Given the description of an element on the screen output the (x, y) to click on. 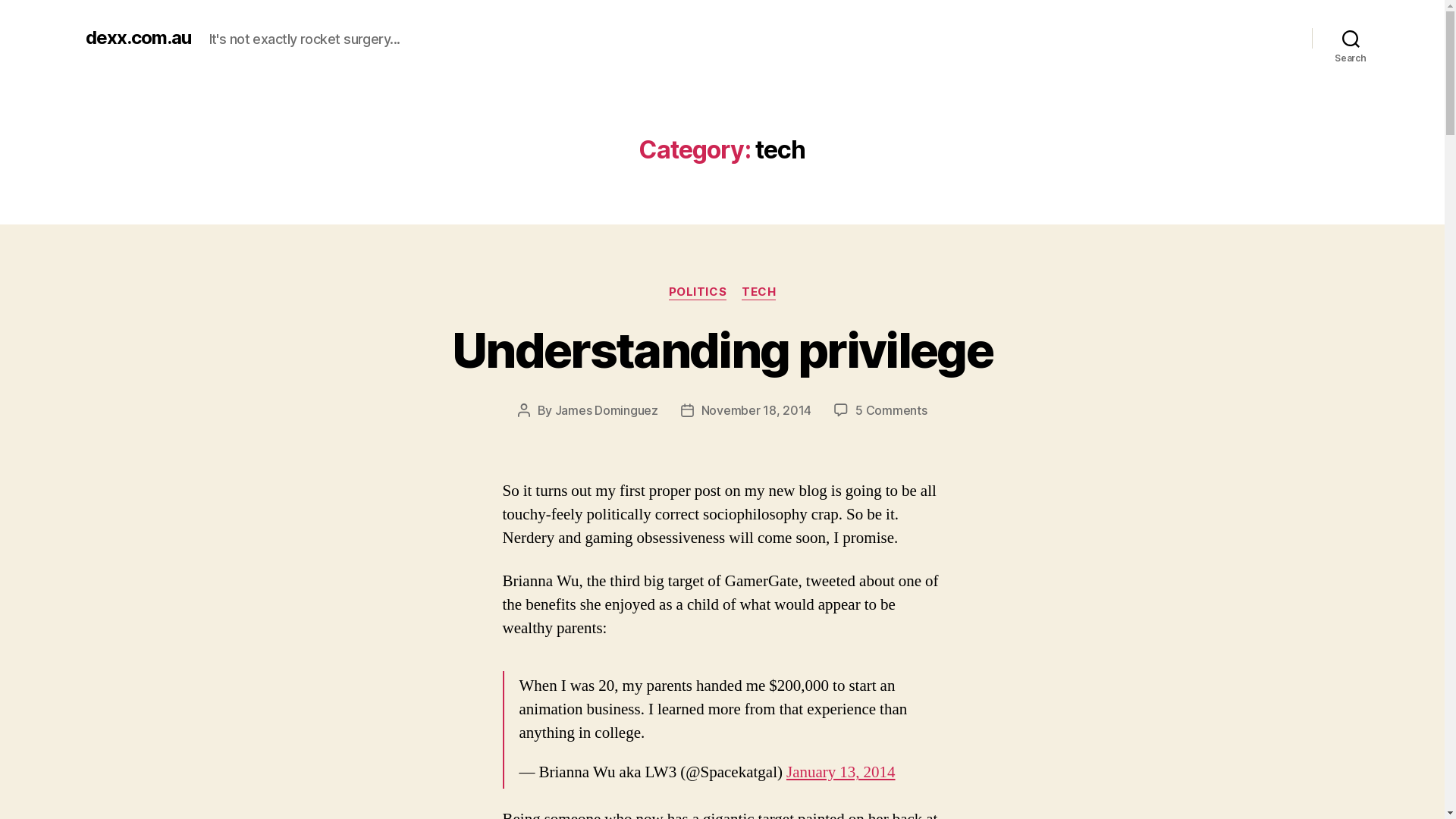
5 Comments
on Understanding privilege Element type: text (890, 409)
January 13, 2014 Element type: text (840, 772)
James Dominguez Element type: text (606, 409)
POLITICS Element type: text (697, 292)
November 18, 2014 Element type: text (756, 409)
dexx.com.au Element type: text (137, 37)
Search Element type: text (1350, 37)
Understanding privilege Element type: text (721, 349)
TECH Element type: text (758, 292)
